Given the description of an element on the screen output the (x, y) to click on. 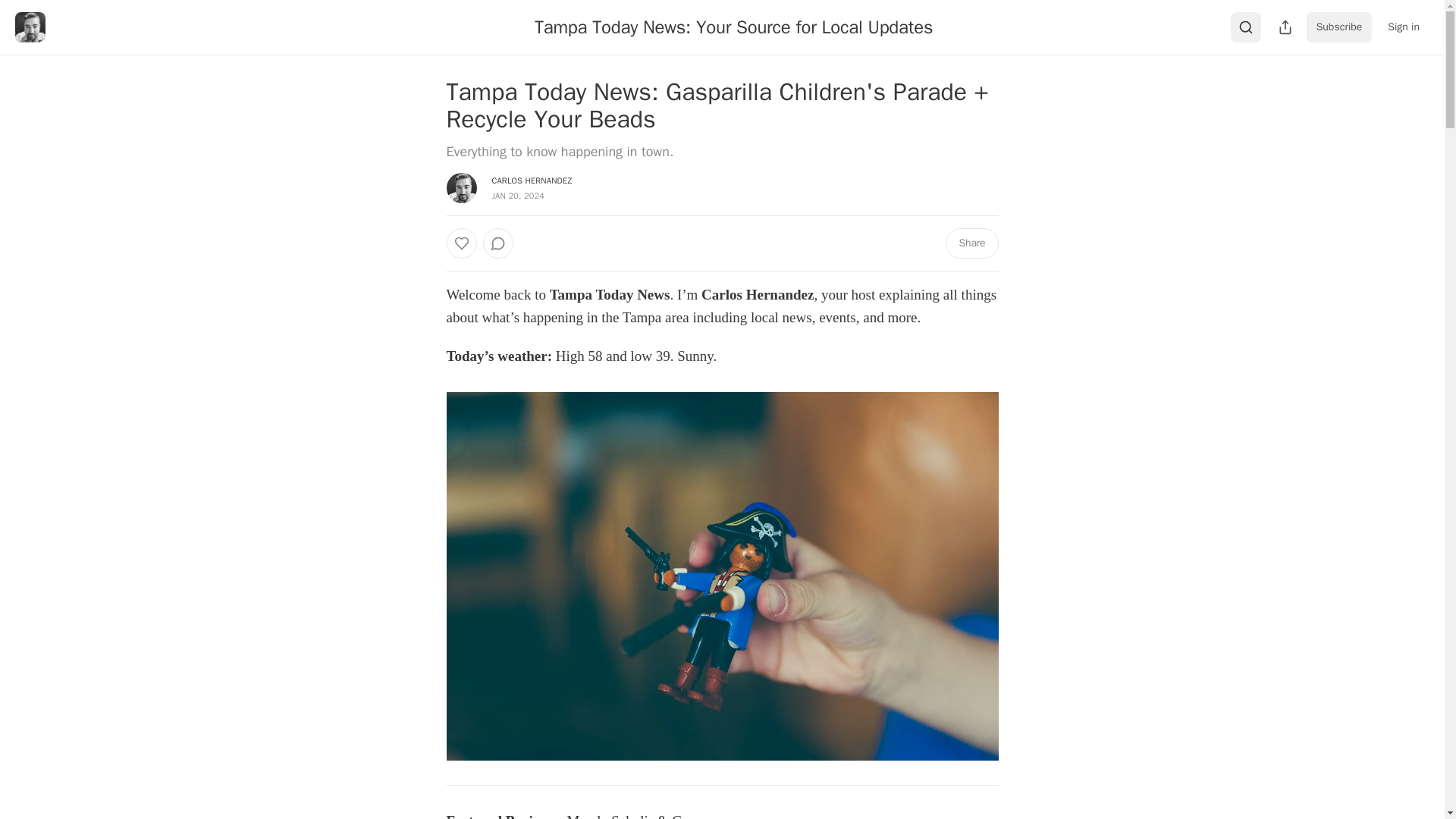
Tampa Today News: Your Source for Local Updates (733, 26)
CARLOS HERNANDEZ (532, 180)
Sign in (1403, 27)
Subscribe (1339, 27)
Share (970, 243)
